Given the description of an element on the screen output the (x, y) to click on. 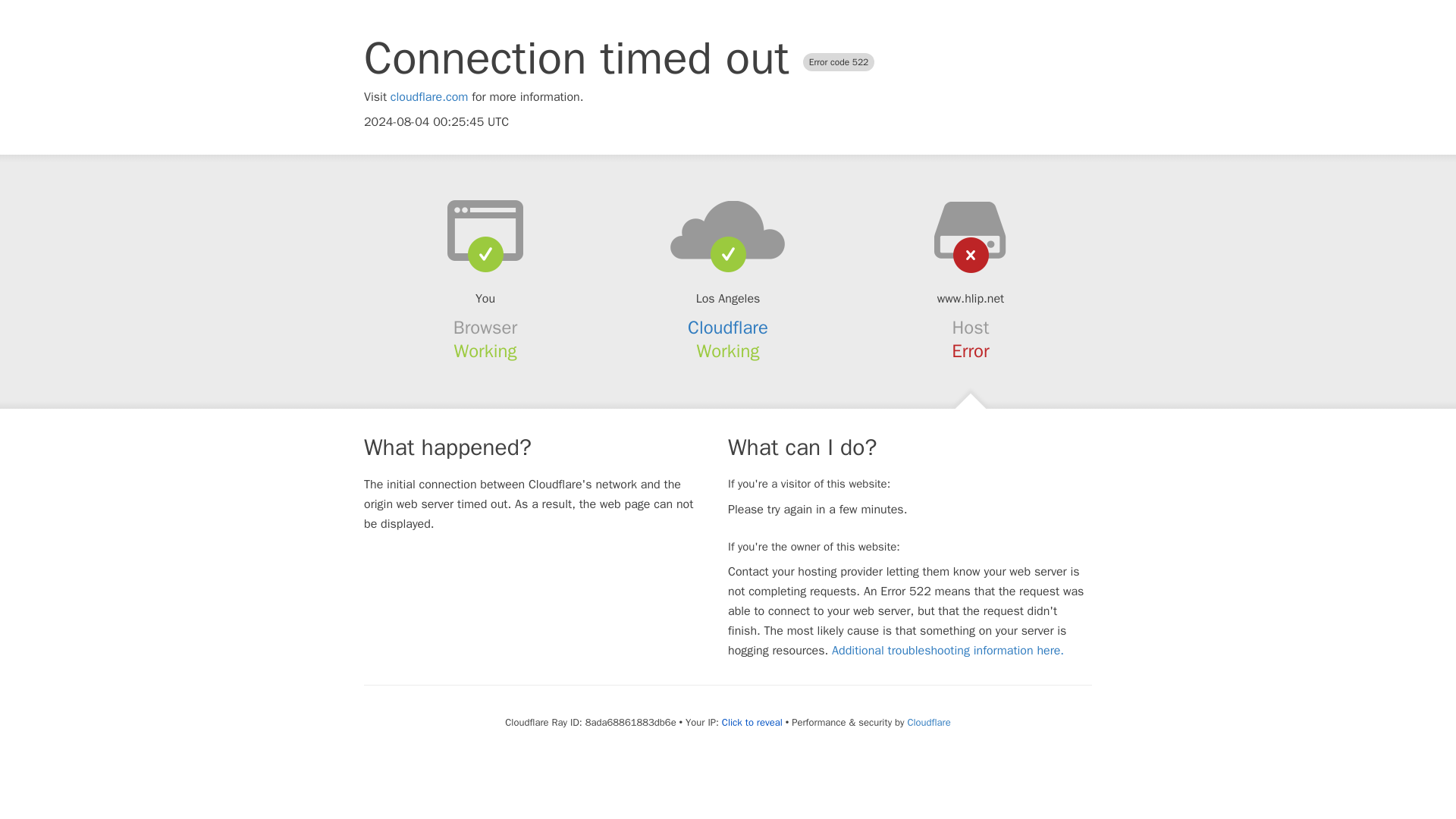
Cloudflare (727, 327)
Additional troubleshooting information here. (947, 650)
Cloudflare (928, 721)
Click to reveal (752, 722)
cloudflare.com (429, 96)
